Given the description of an element on the screen output the (x, y) to click on. 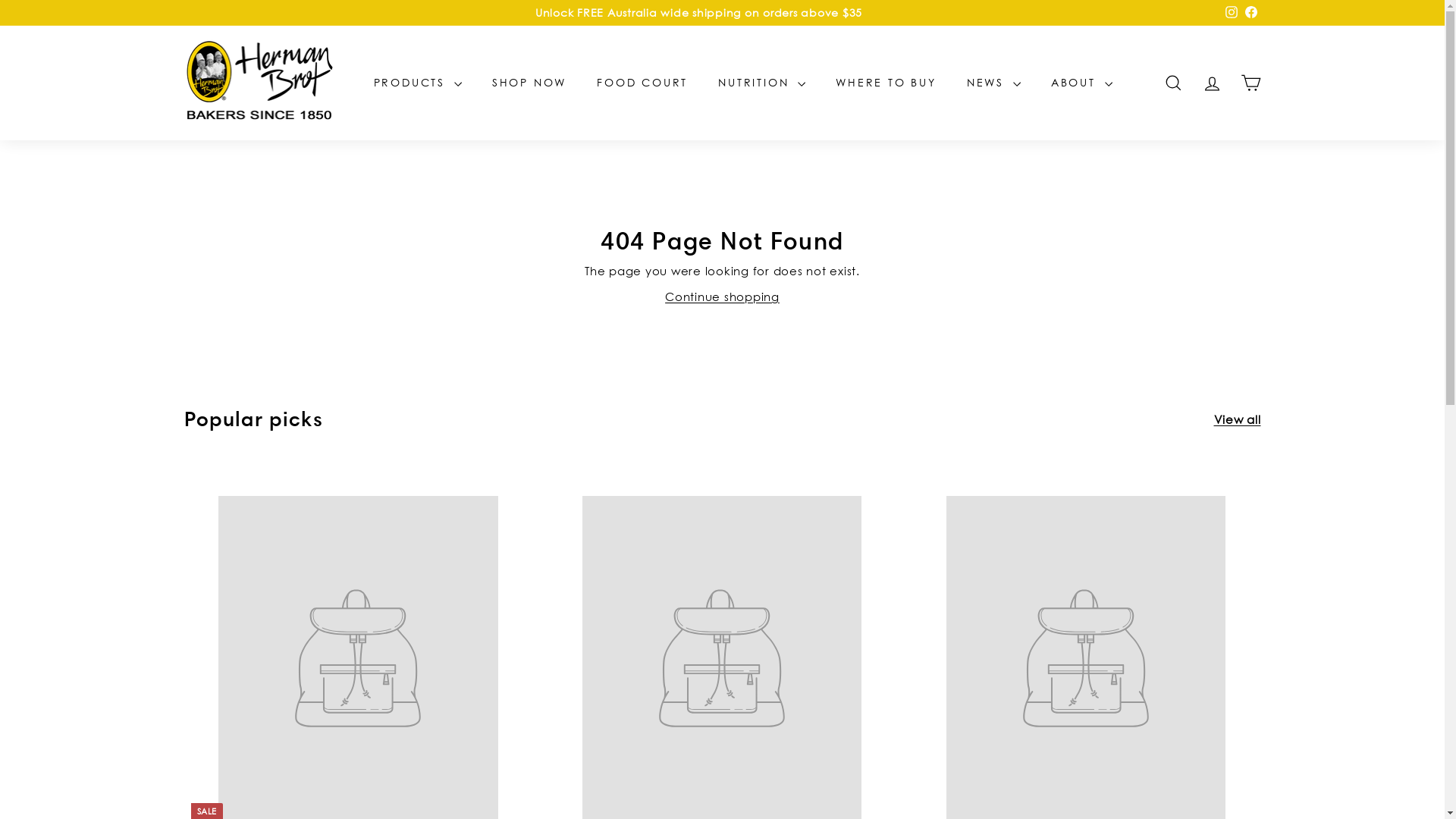
SHOP NOW Element type: text (528, 82)
instagram
Instagram Element type: text (1230, 12)
WHERE TO BUY Element type: text (885, 82)
View all Element type: text (1236, 419)
Facebook Element type: text (1250, 12)
ACCOUNT Element type: text (1211, 82)
CART Element type: text (1250, 82)
FOOD COURT Element type: text (641, 82)
SEARCH Element type: text (1173, 82)
Continue shopping Element type: text (722, 296)
